Given the description of an element on the screen output the (x, y) to click on. 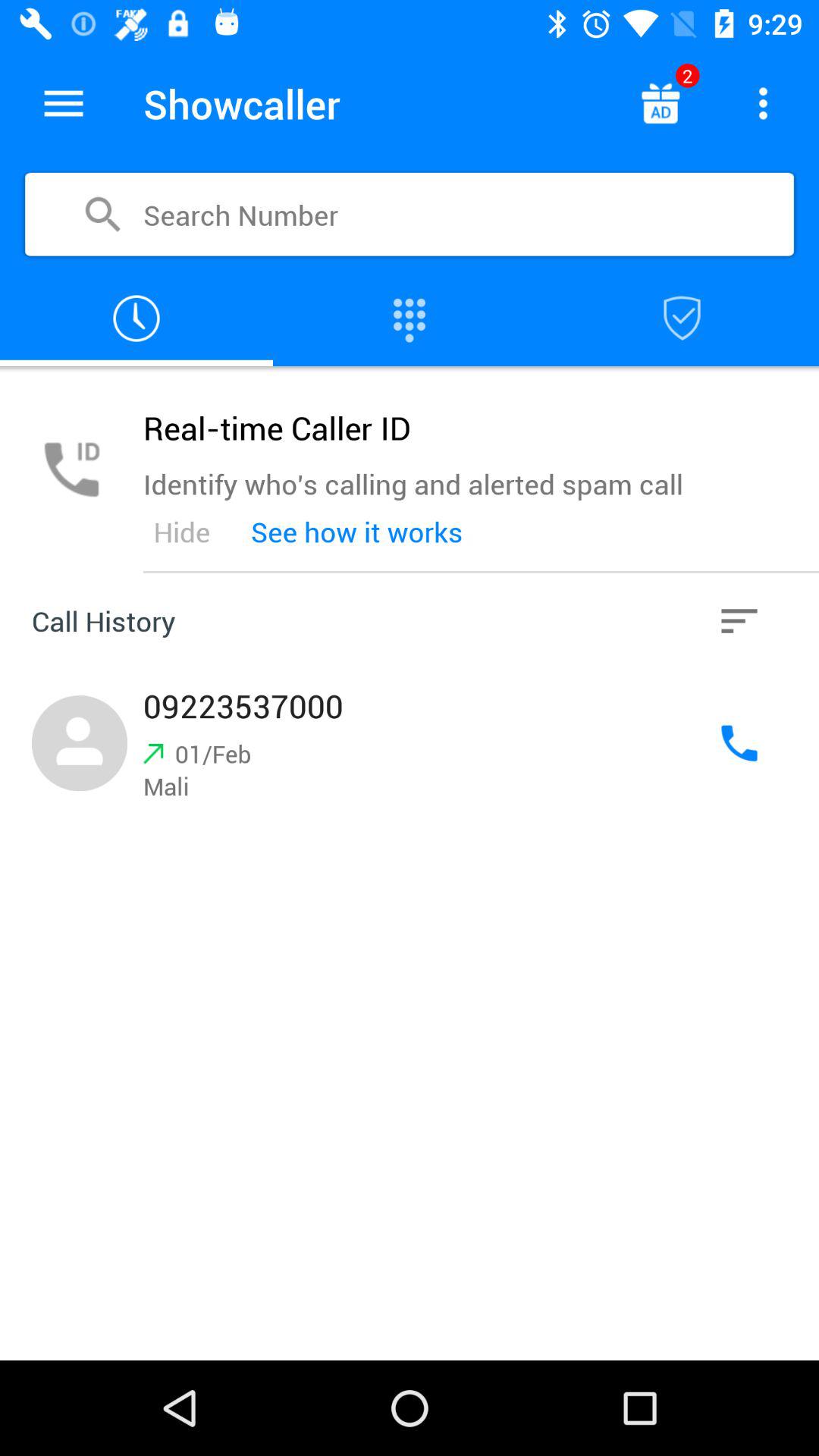
click the hide icon (181, 531)
